Given the description of an element on the screen output the (x, y) to click on. 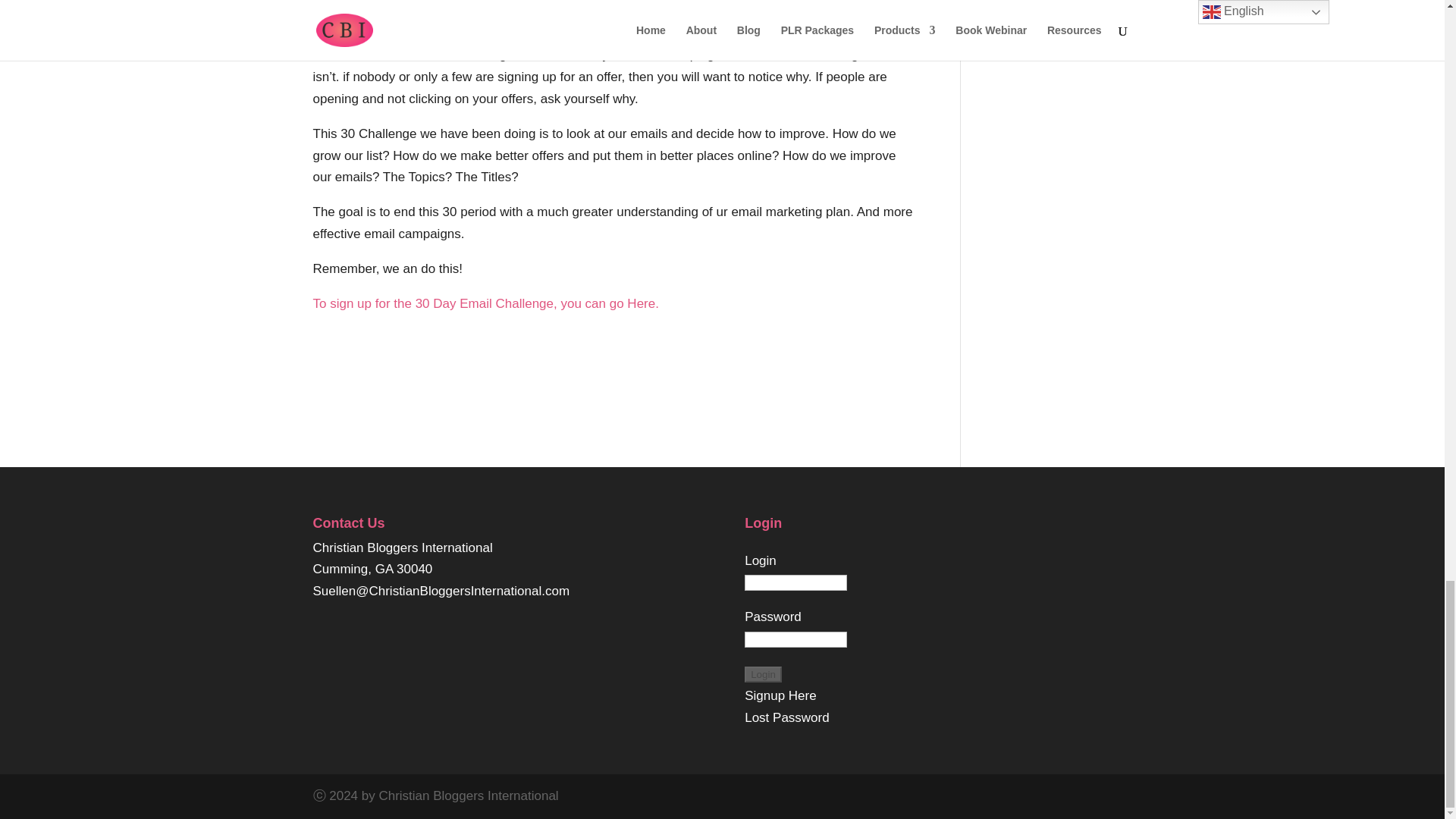
To sign up for the 30 Day Email Challenge, you can go Here. (485, 303)
Login (762, 674)
